Given the description of an element on the screen output the (x, y) to click on. 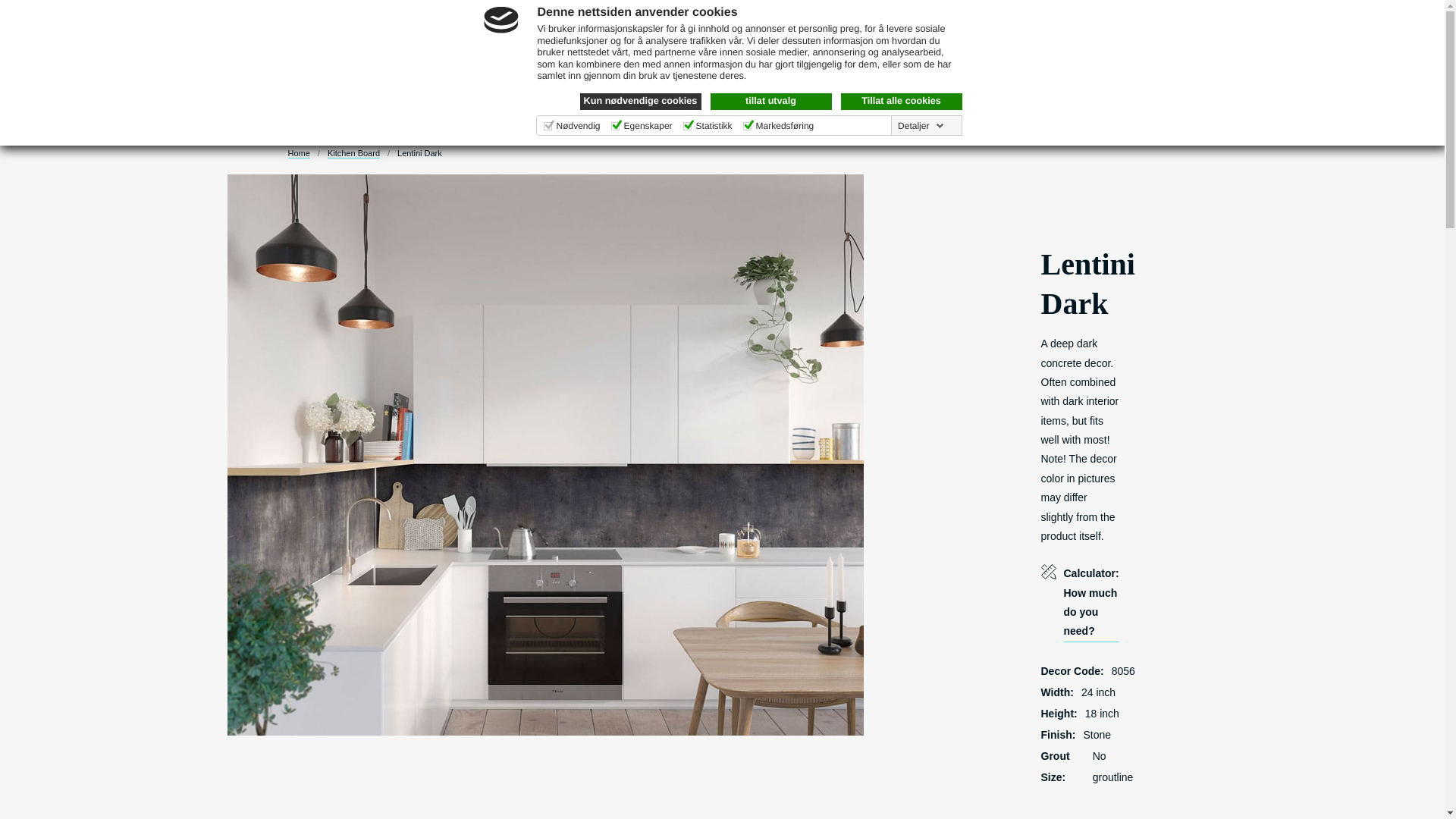
Tillat alle cookies (900, 101)
Detaljer (921, 125)
tillat utvalg (770, 101)
